Given the description of an element on the screen output the (x, y) to click on. 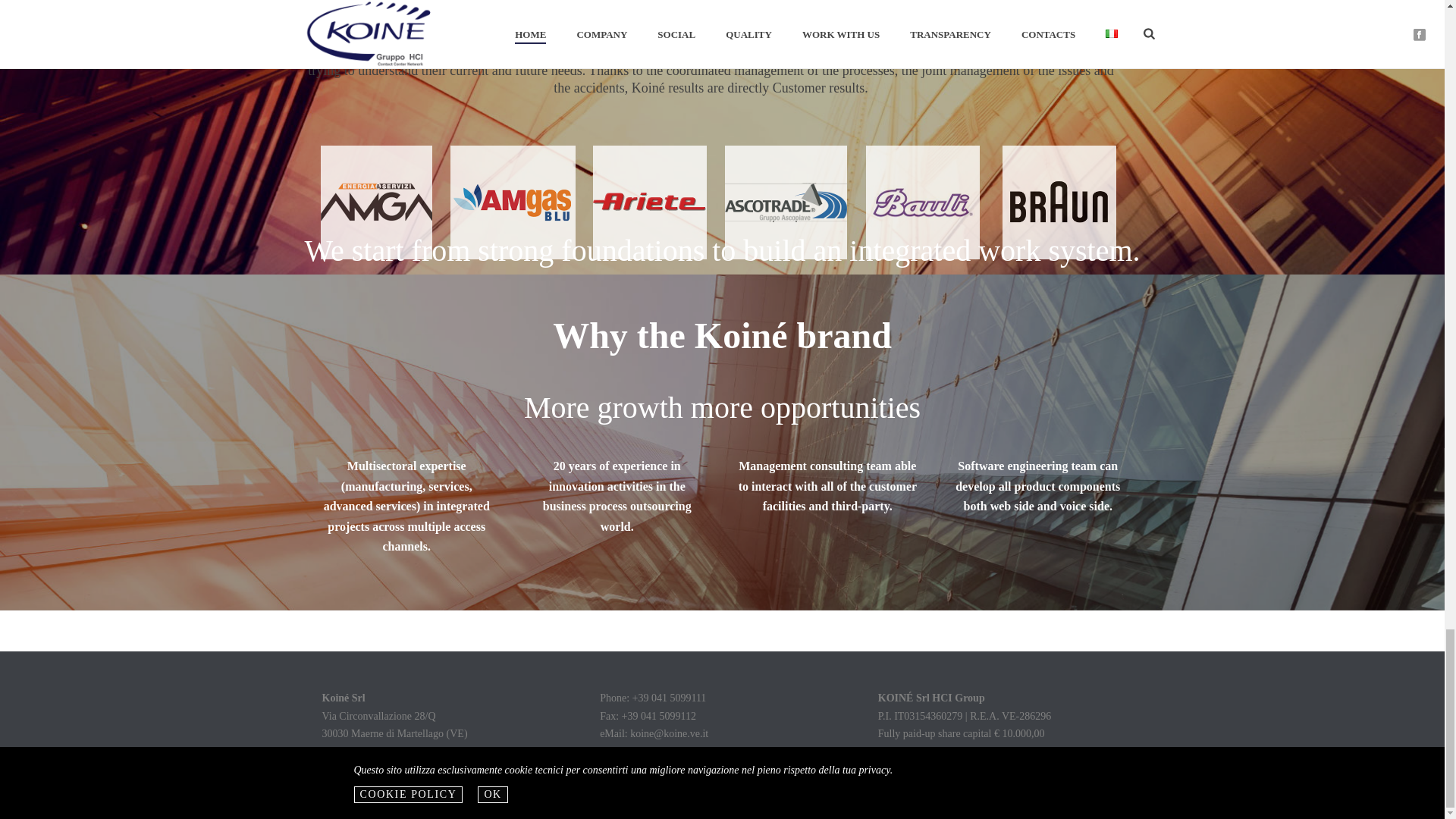
Ariete (649, 202)
Bauli (923, 202)
Braun (1059, 202)
Ascotrade (786, 202)
AmgasBlu (513, 202)
Amga Energia e Servizi (377, 202)
